Given the description of an element on the screen output the (x, y) to click on. 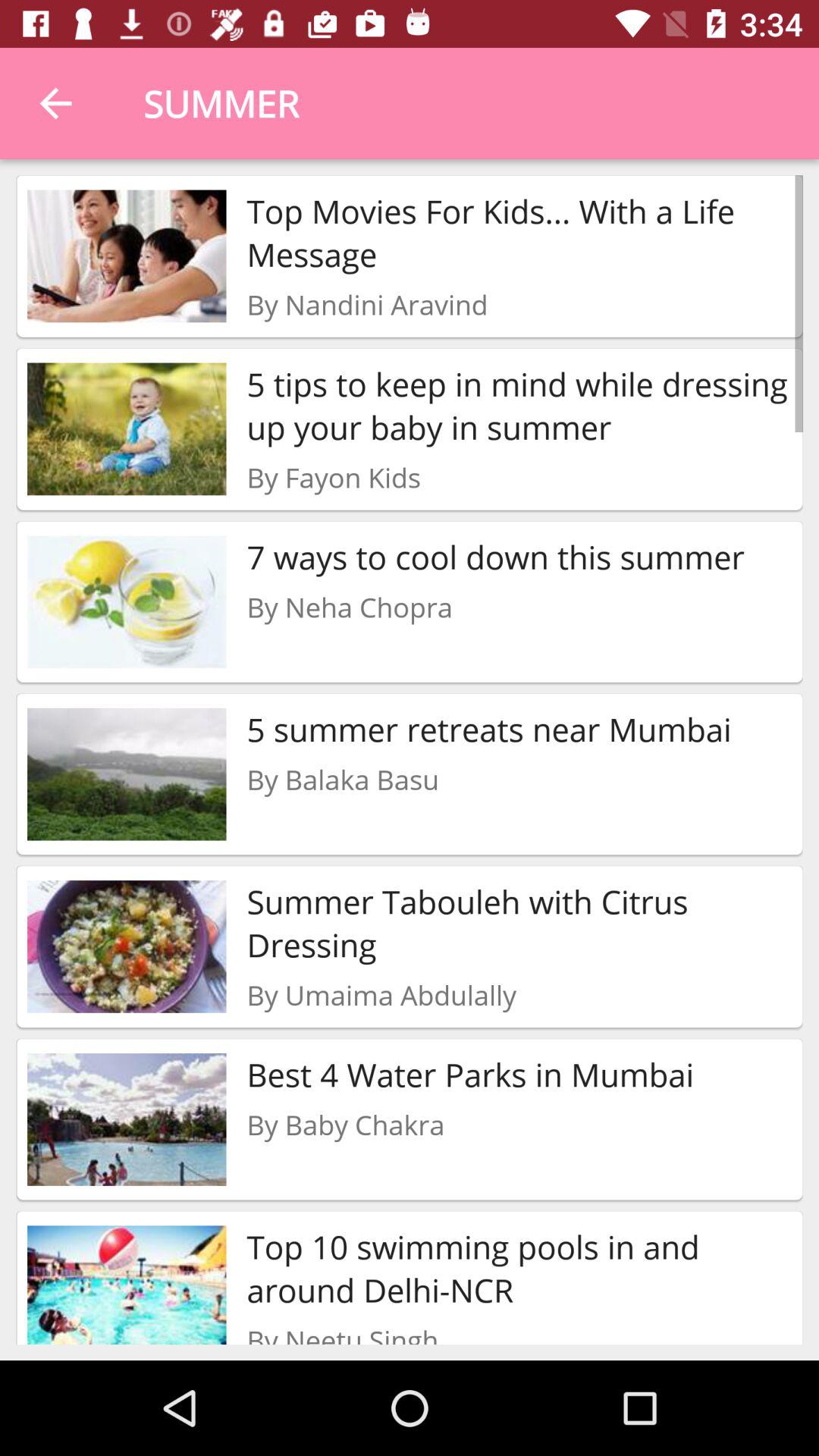
scroll to the best 4 water icon (469, 1074)
